Given the description of an element on the screen output the (x, y) to click on. 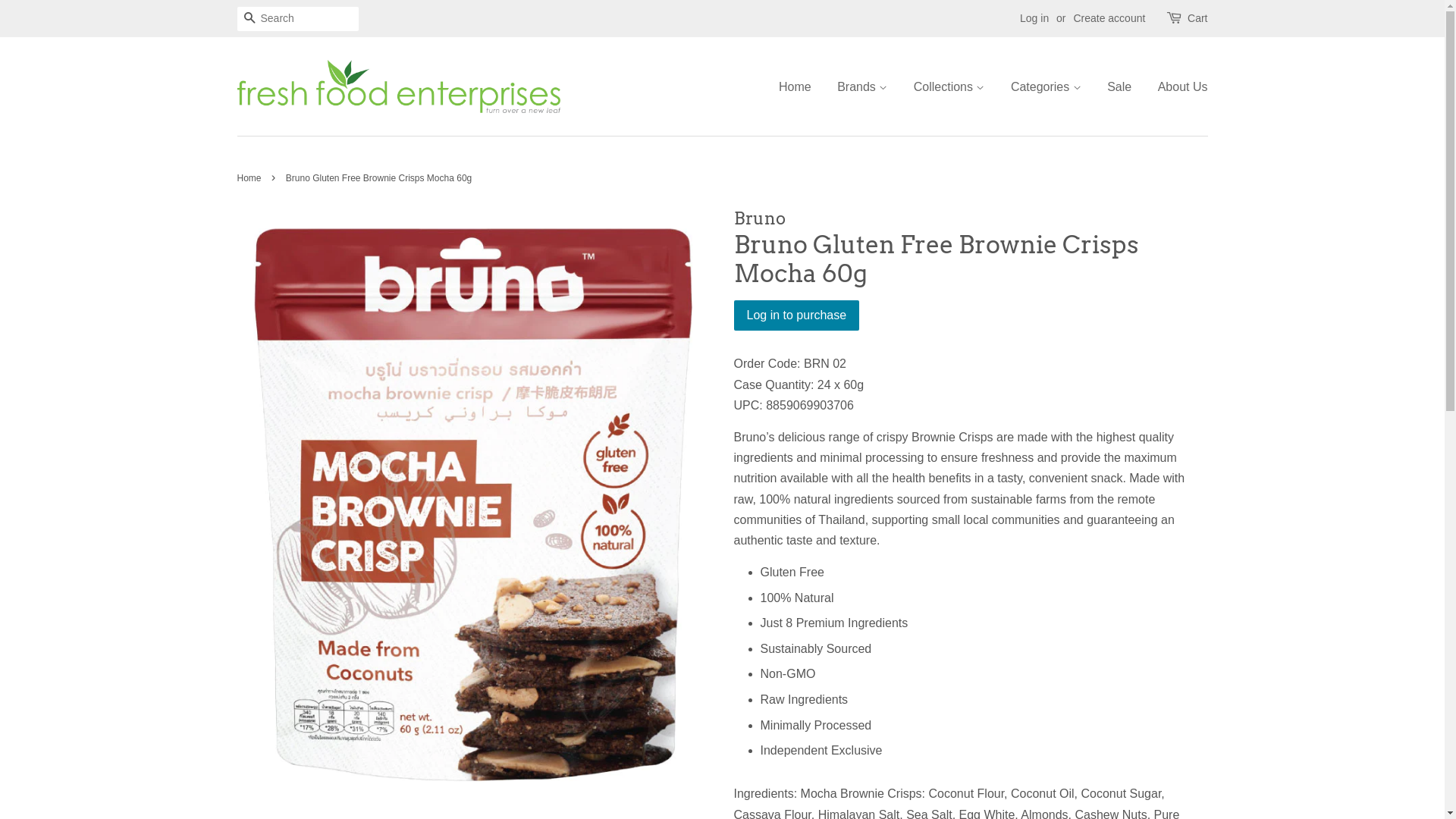
Brands Element type: text (861, 86)
Home Element type: text (250, 177)
Search Element type: text (248, 18)
Sale Element type: text (1118, 86)
Create account Element type: text (1109, 18)
Collections Element type: text (949, 86)
Cart Element type: text (1197, 18)
Categories Element type: text (1045, 86)
About Us Element type: text (1177, 86)
Log in to purchase Element type: text (796, 315)
Home Element type: text (800, 86)
Log in Element type: text (1033, 18)
